Given the description of an element on the screen output the (x, y) to click on. 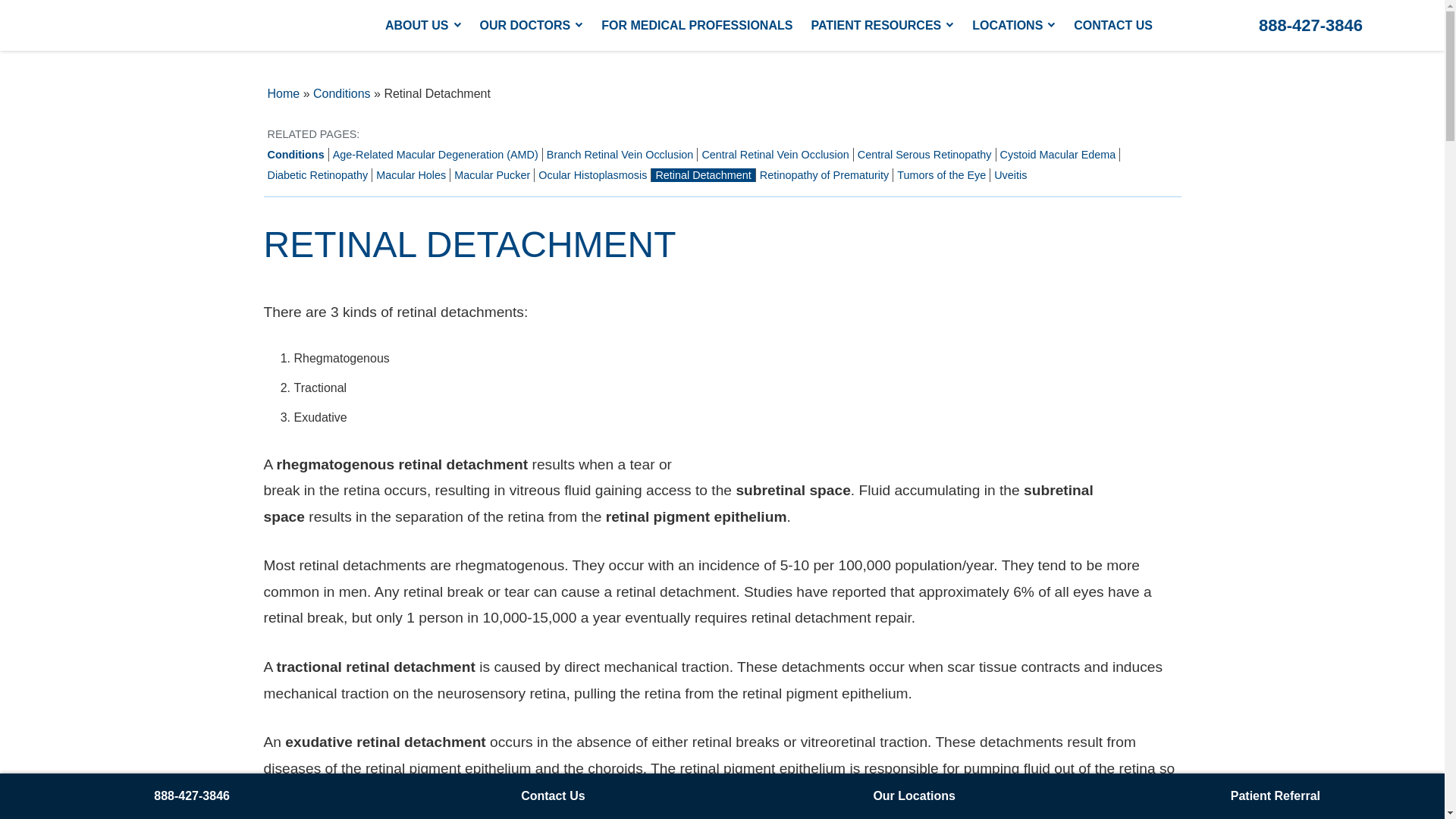
OUR DOCTORS (531, 25)
Go to homepage (188, 25)
ABOUT US (422, 25)
